Given the description of an element on the screen output the (x, y) to click on. 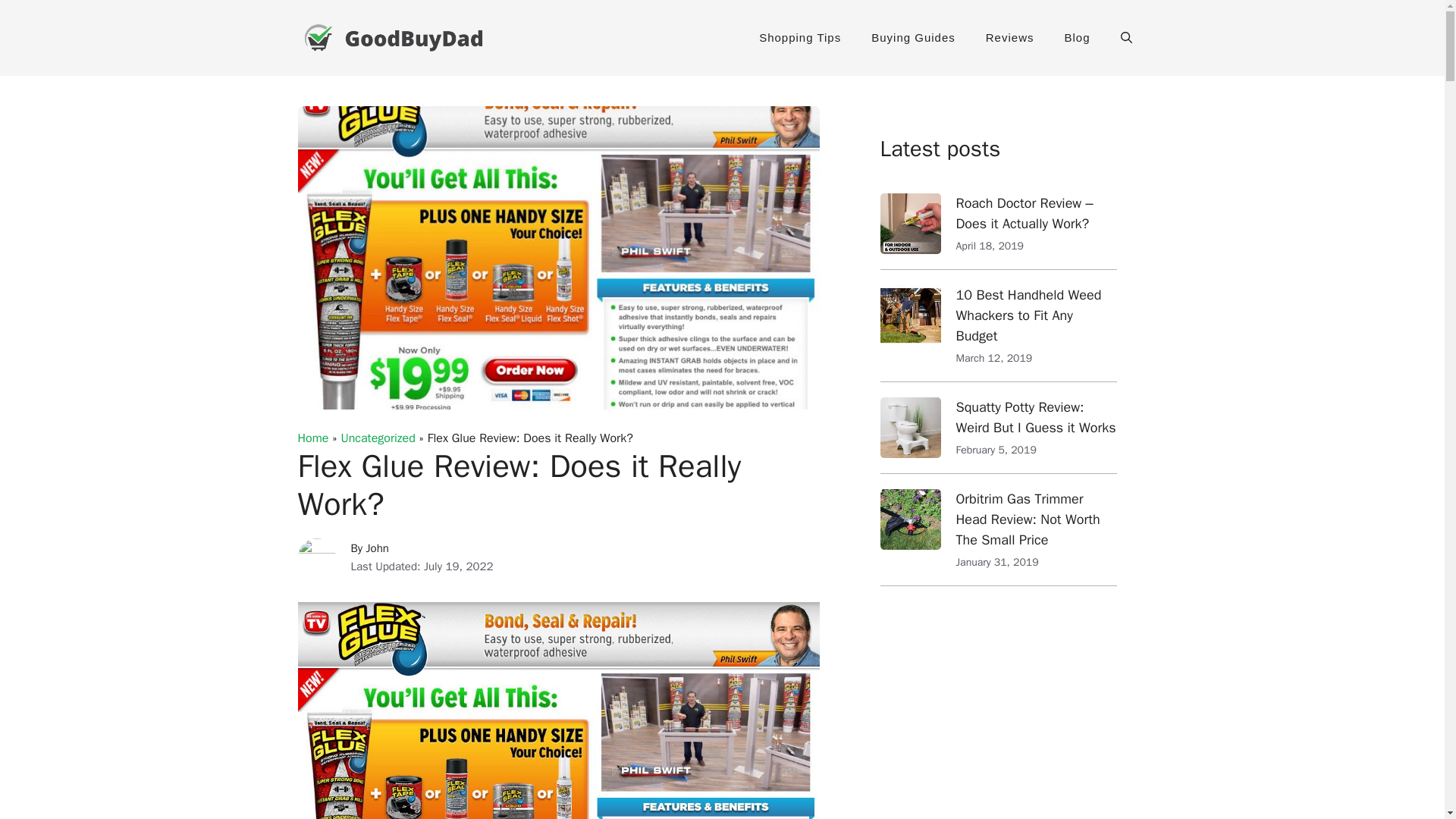
John (377, 548)
Buying Guides (913, 37)
Uncategorized (377, 437)
Blog (1076, 37)
Reviews (1010, 37)
Home (313, 437)
Shopping Tips (800, 37)
